Given the description of an element on the screen output the (x, y) to click on. 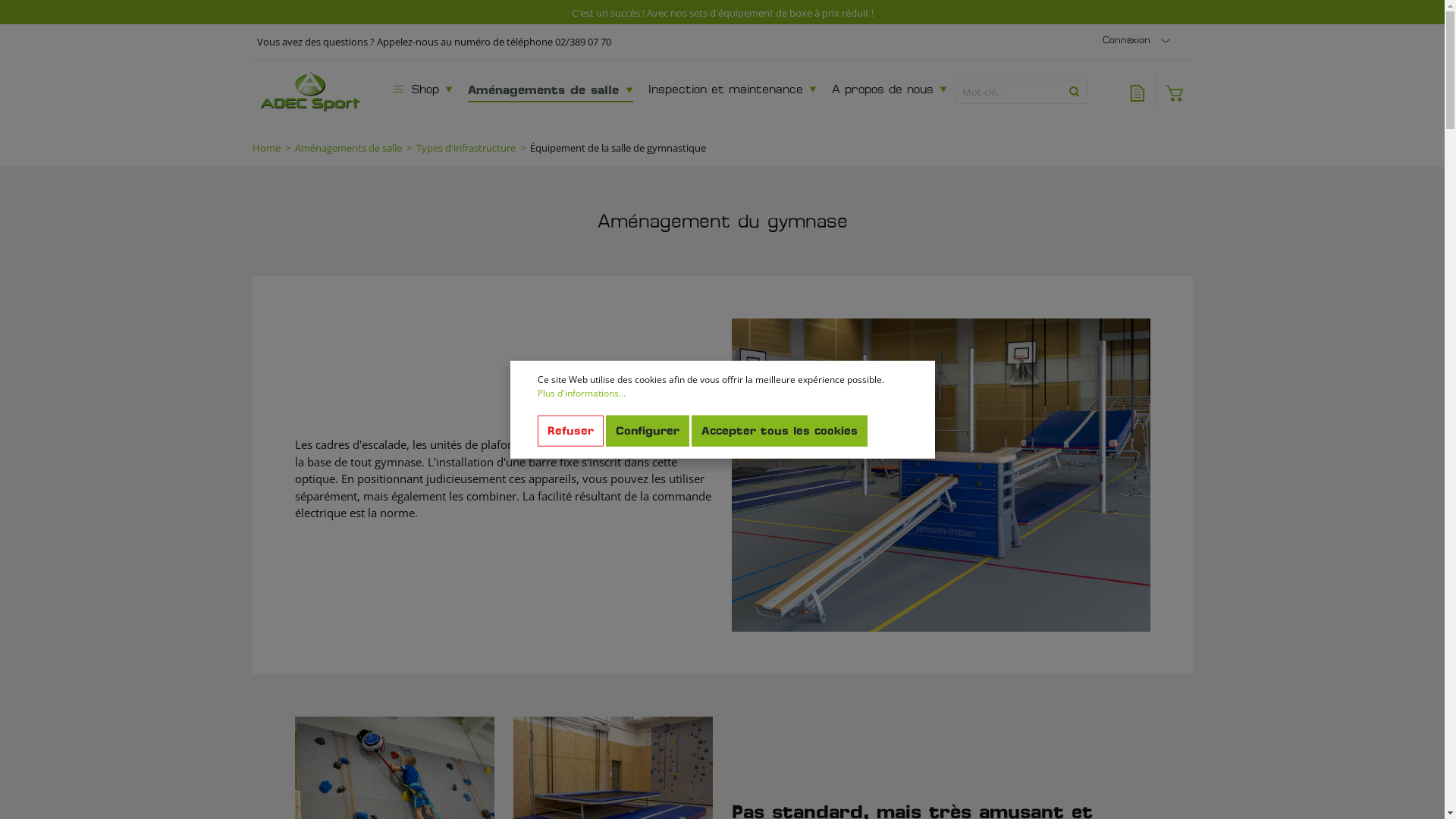
Liste de voeux Element type: hover (1137, 91)
1-Gymzaal-springkast-turnbank Element type: hover (940, 475)
Accepter tous les cookies Element type: text (779, 430)
Refuser Element type: text (569, 430)
Home Element type: text (265, 148)
Types d'infrastructure Element type: text (464, 148)
Panier Element type: hover (1173, 91)
Shop Element type: text (422, 91)
Inspection et maintenance Element type: text (731, 91)
Plus d'informations... Element type: text (580, 393)
A propos de nous Element type: text (888, 91)
Connexion Element type: text (1138, 40)
Configurer Element type: text (646, 430)
